Given the description of an element on the screen output the (x, y) to click on. 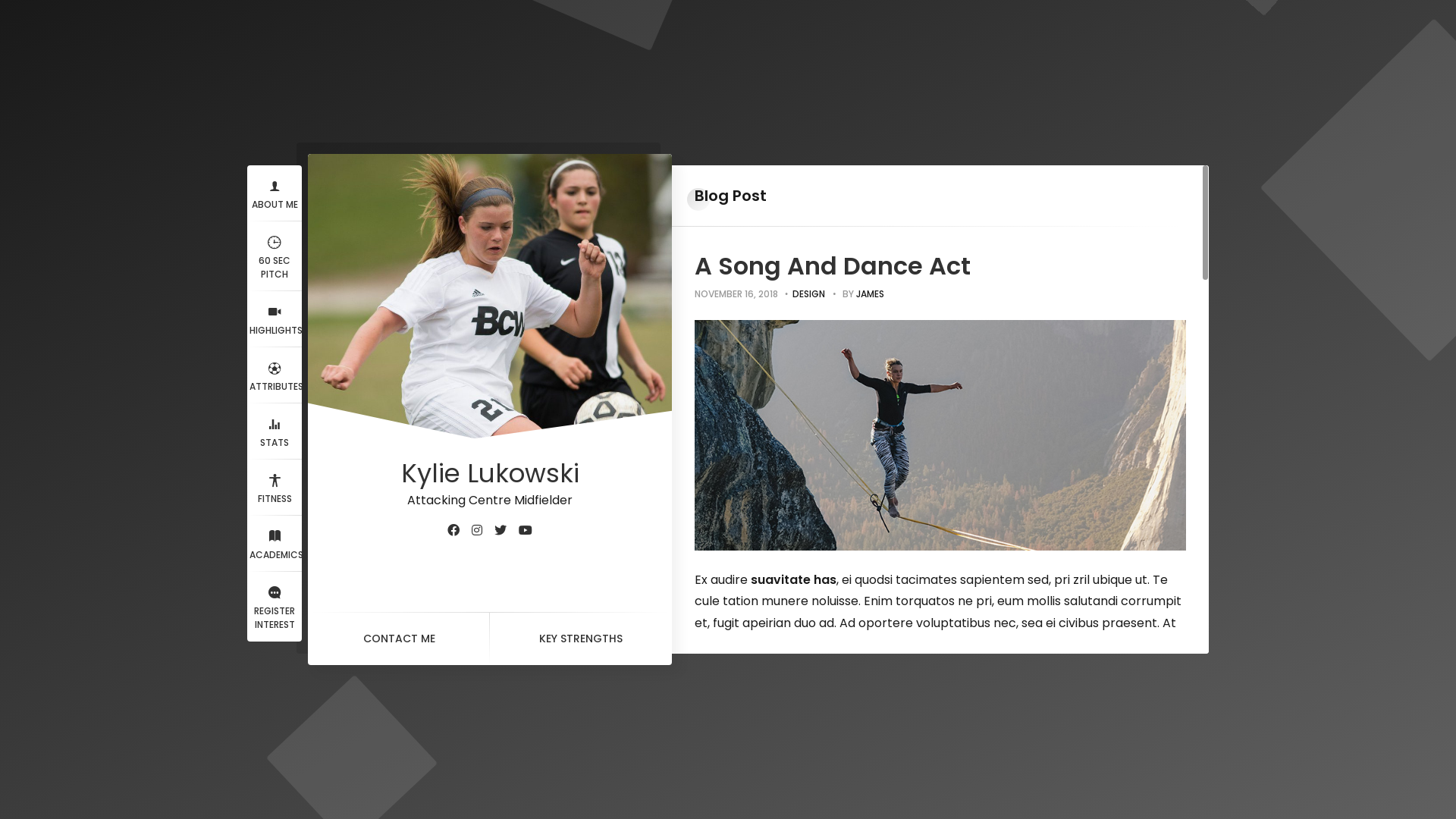
60 SEC PITCH Element type: text (274, 256)
STATS Element type: text (274, 431)
CONTACT ME Element type: text (398, 638)
HIGHLIGHTS Element type: text (274, 319)
KEY STRENGTHS Element type: text (580, 638)
ABOUT ME Element type: text (274, 193)
ACADEMICS Element type: text (274, 543)
ATTRIBUTES Element type: text (274, 375)
REGISTER INTEREST Element type: text (274, 606)
DESIGN Element type: text (808, 293)
JAMES Element type: text (870, 293)
paulo omnium Element type: text (1099, 644)
FITNESS Element type: text (274, 487)
